Given the description of an element on the screen output the (x, y) to click on. 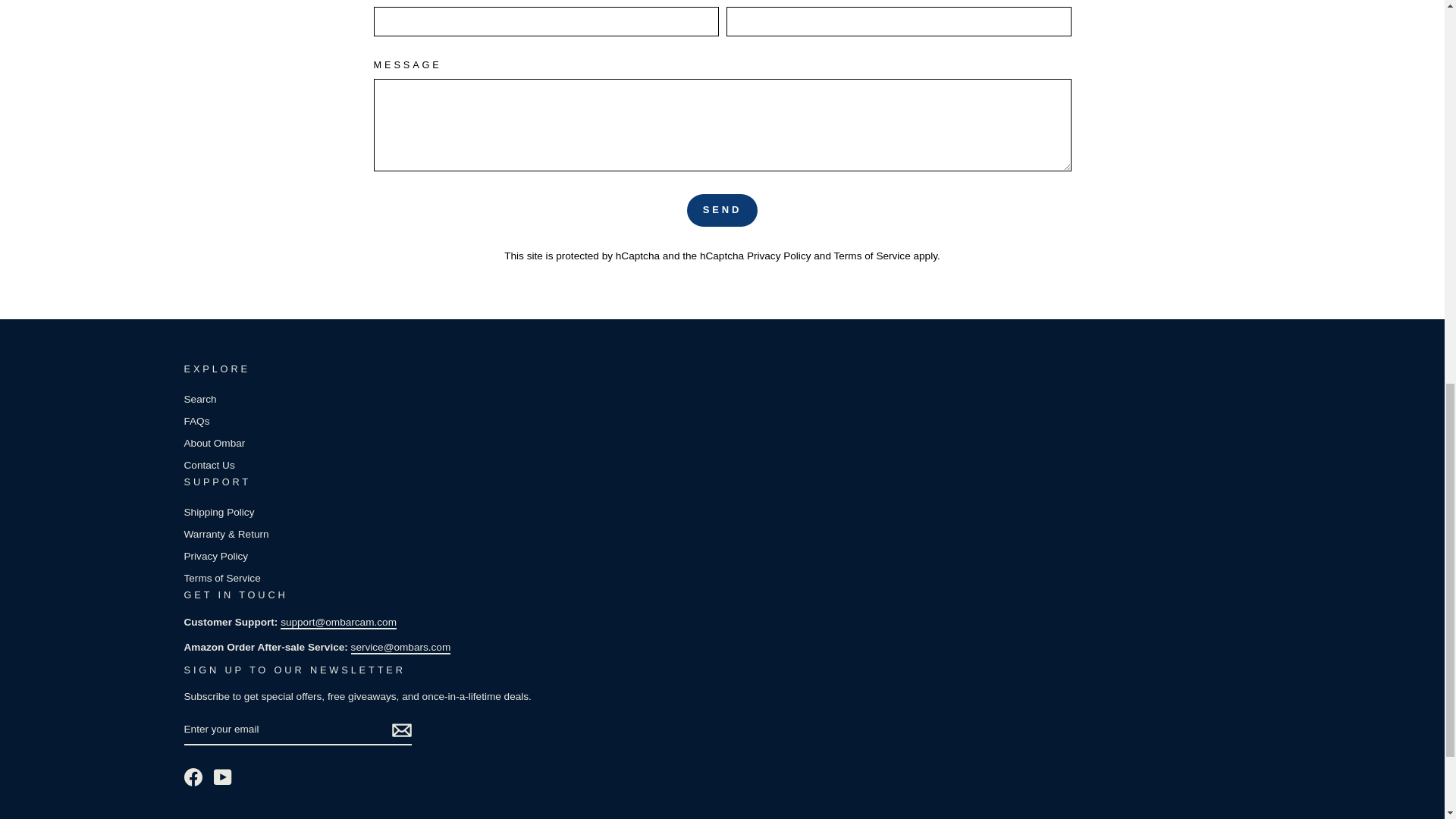
icon-email (400, 730)
Ombarcam on YouTube (222, 777)
Ombarcam on Facebook (192, 777)
